Given the description of an element on the screen output the (x, y) to click on. 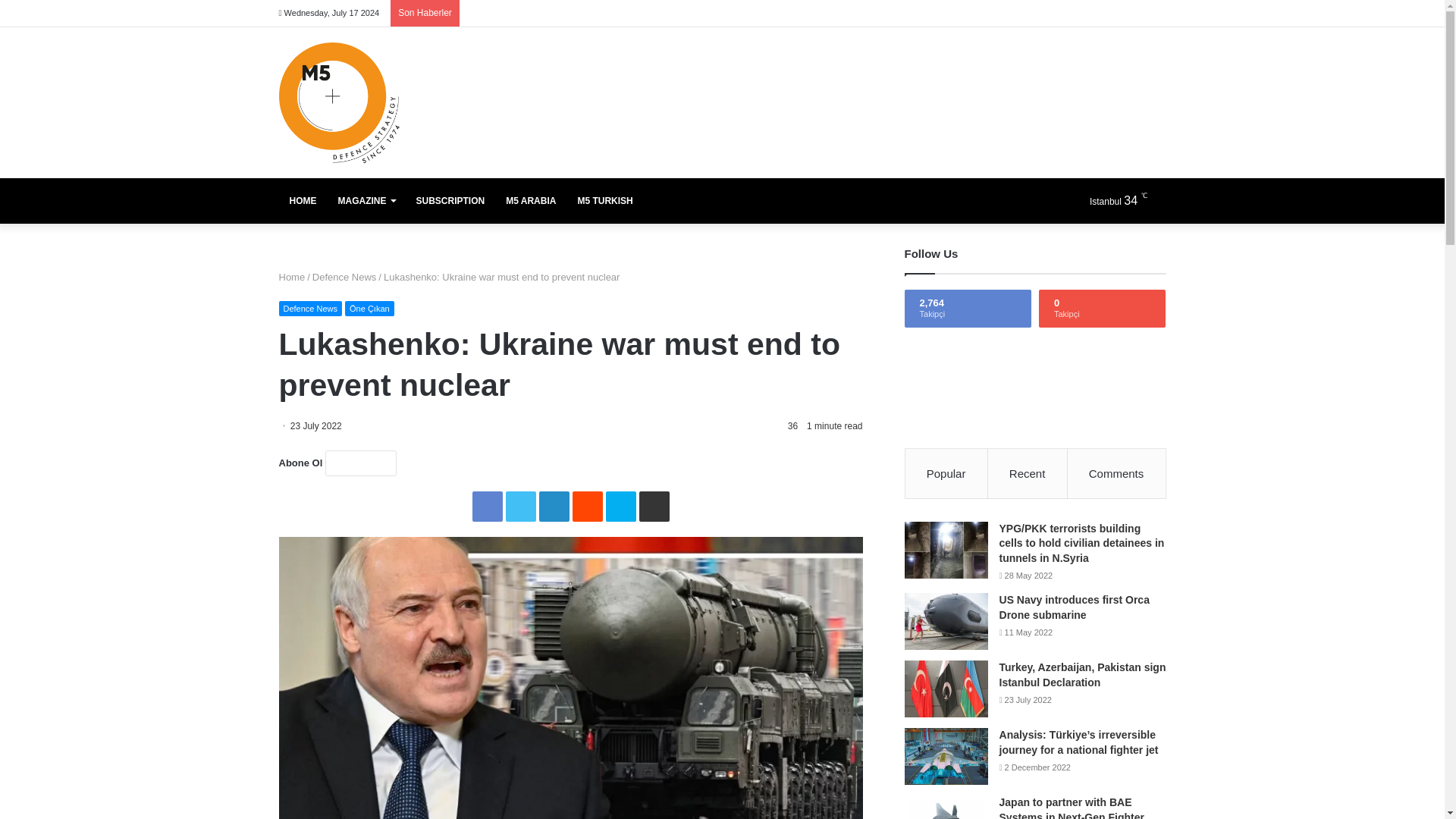
Defence News (345, 276)
Skype (619, 506)
Defence News (310, 308)
SUBSCRIPTION (449, 200)
Share via Email (653, 506)
Abone Ol (360, 462)
HOME (303, 200)
MAGAZINE (366, 200)
Reddit (587, 506)
Home (292, 276)
M5 TURKISH (604, 200)
Clear Sky (1125, 199)
M5 Dergi (338, 102)
M5 ARABIA (530, 200)
Facebook (486, 506)
